Given the description of an element on the screen output the (x, y) to click on. 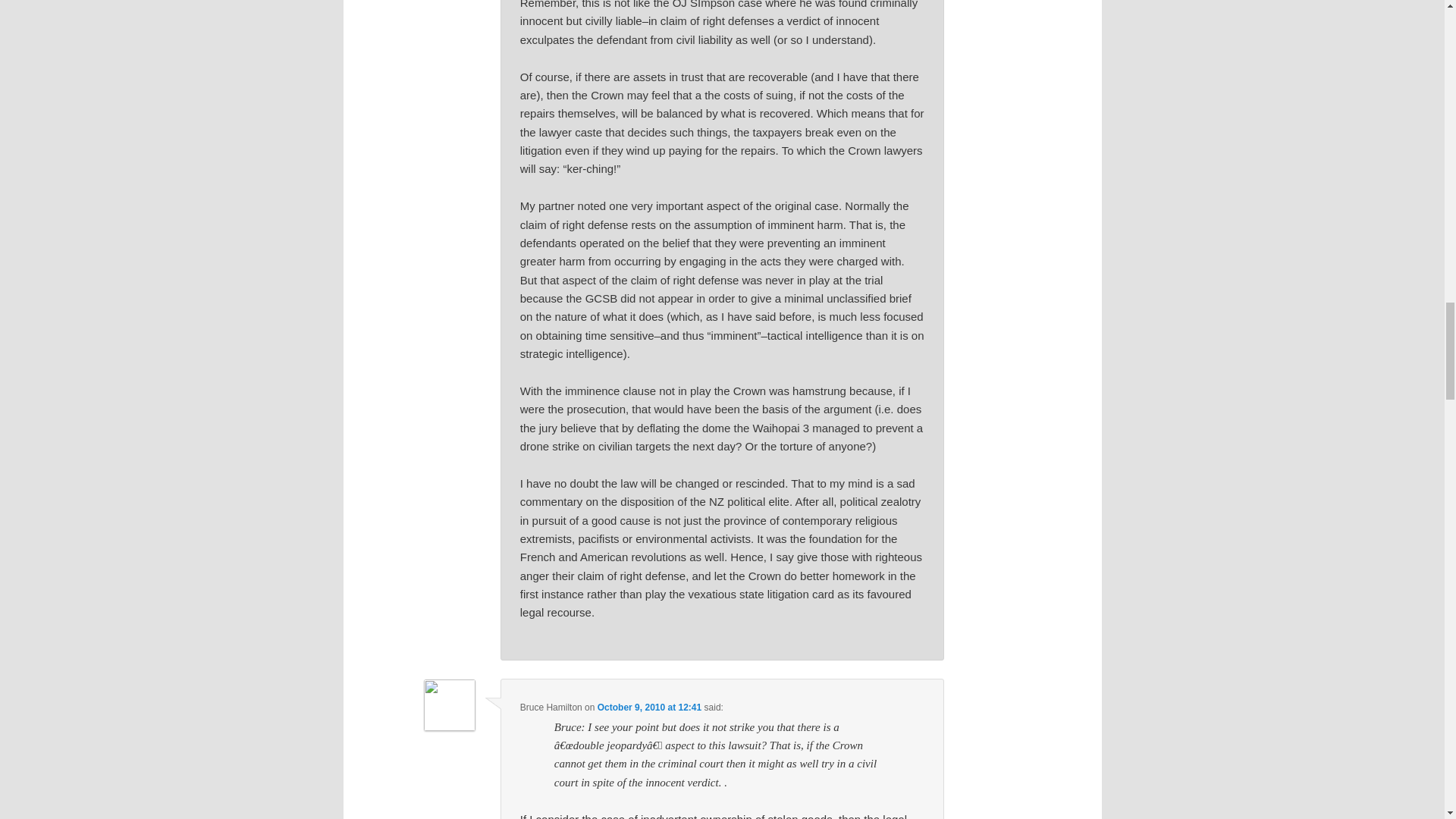
October 9, 2010 at 12:41 (648, 706)
